Given the description of an element on the screen output the (x, y) to click on. 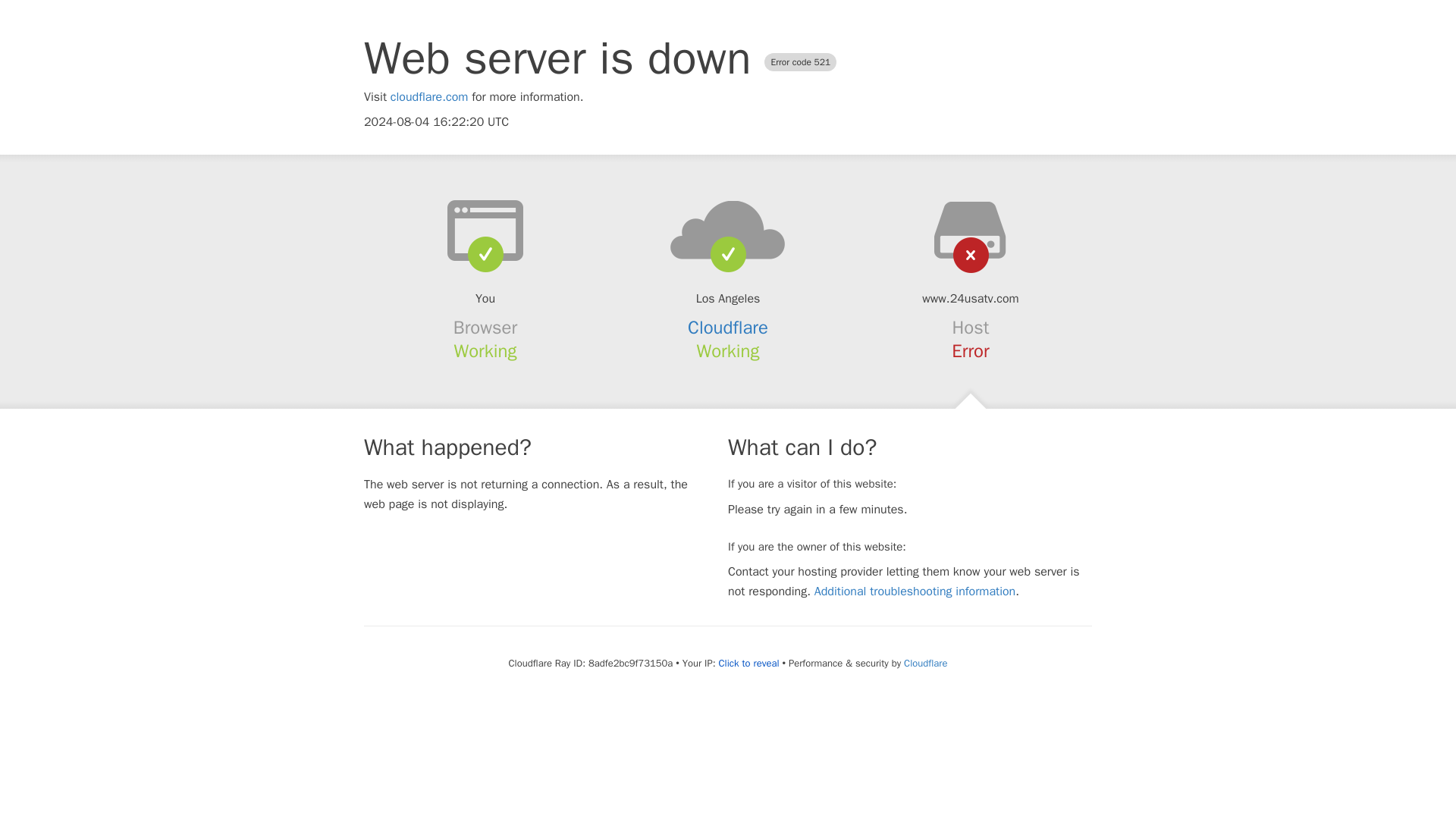
Cloudflare (925, 662)
Additional troubleshooting information (913, 590)
Cloudflare (727, 327)
Click to reveal (748, 663)
cloudflare.com (429, 96)
